Given the description of an element on the screen output the (x, y) to click on. 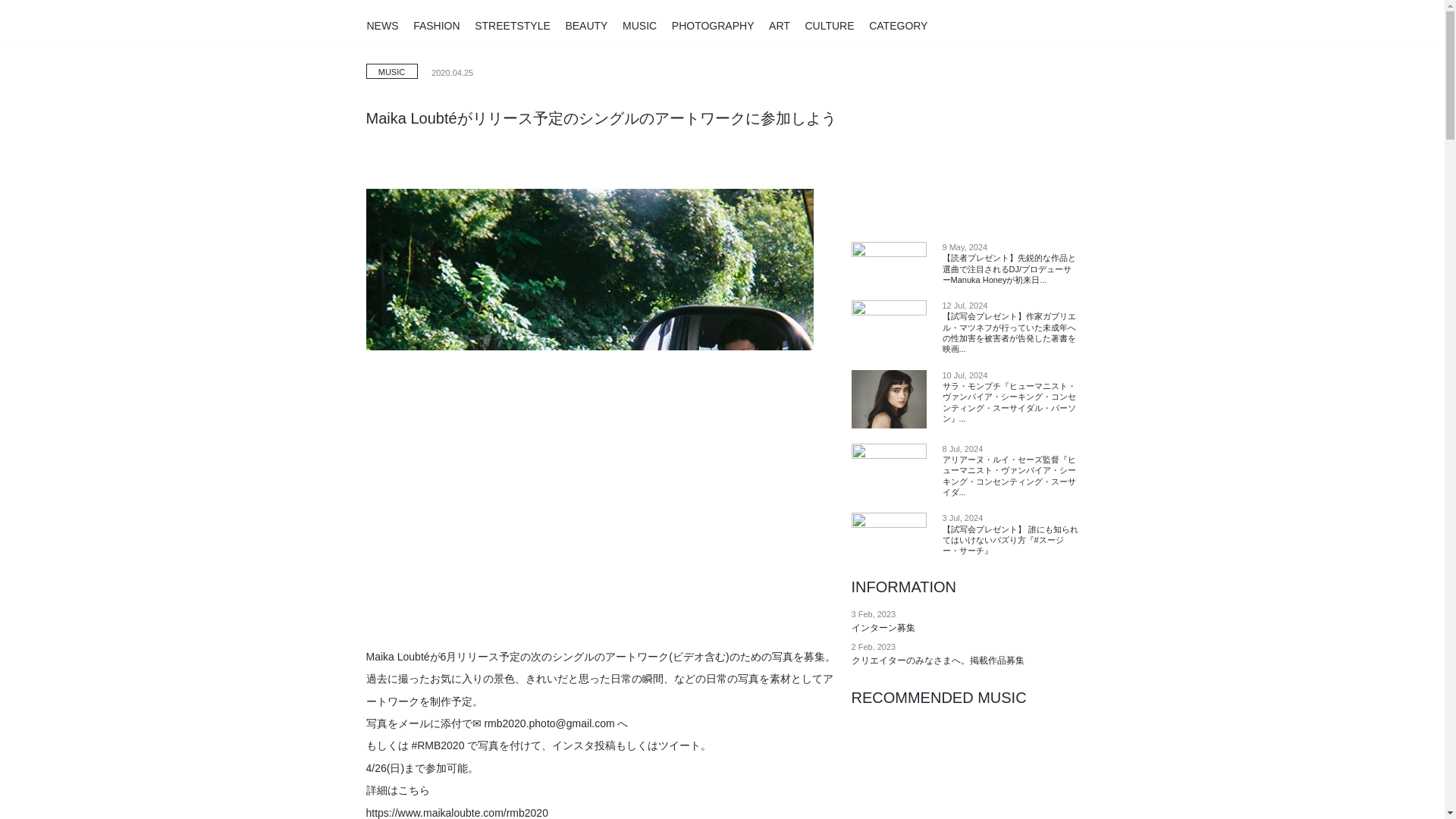
CULTURE (829, 22)
STREETSTYLE (512, 22)
Soundcloud (1108, 23)
Search (1177, 23)
FASHION (436, 22)
CATEGORY (898, 22)
NeoL (288, 22)
PHOTOGRAPHY (712, 22)
BEAUTY (585, 22)
